Given the description of an element on the screen output the (x, y) to click on. 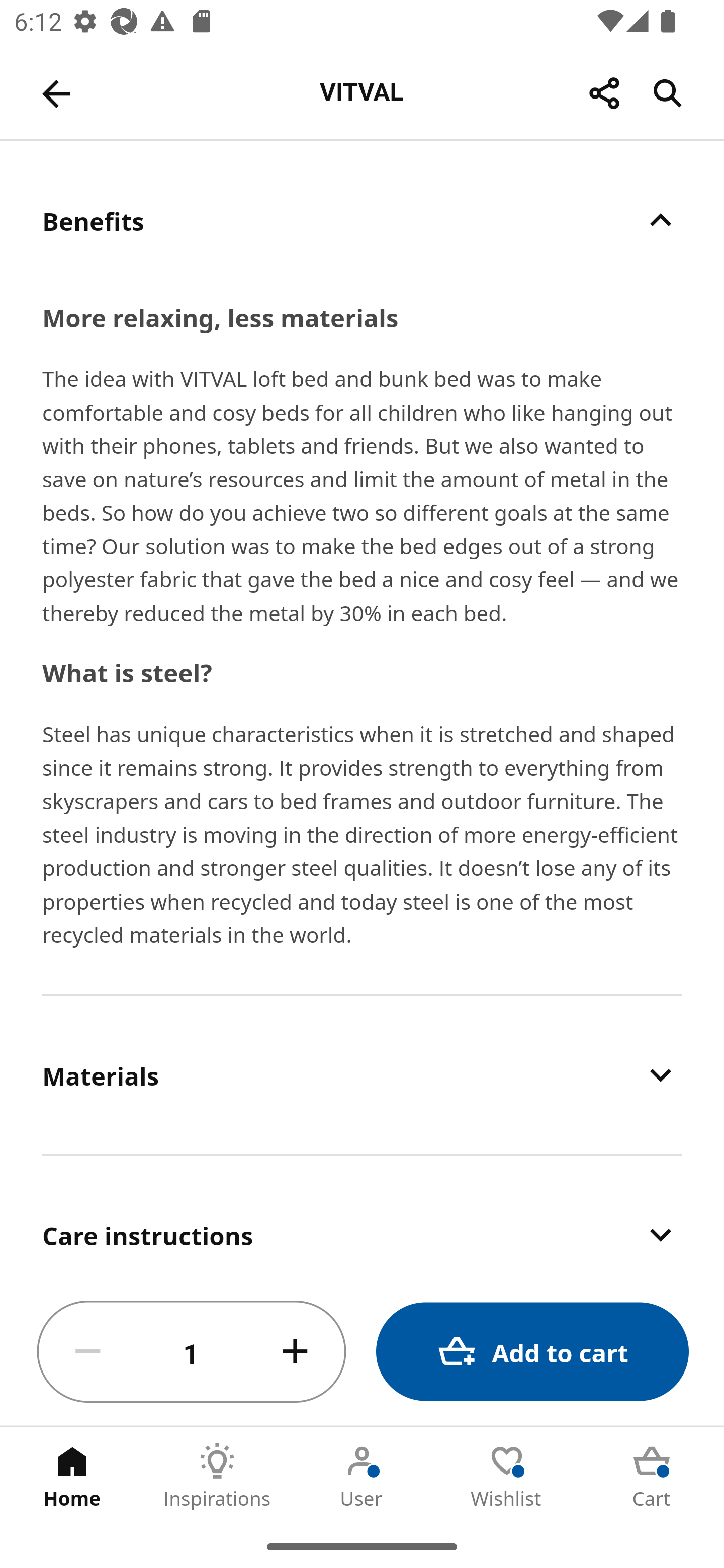
Benefits (361, 219)
Materials (361, 1074)
Care instructions (361, 1217)
Add to cart (531, 1352)
1 (191, 1352)
Home
Tab 1 of 5 (72, 1476)
Inspirations
Tab 2 of 5 (216, 1476)
User
Tab 3 of 5 (361, 1476)
Wishlist
Tab 4 of 5 (506, 1476)
Cart
Tab 5 of 5 (651, 1476)
